Given the description of an element on the screen output the (x, y) to click on. 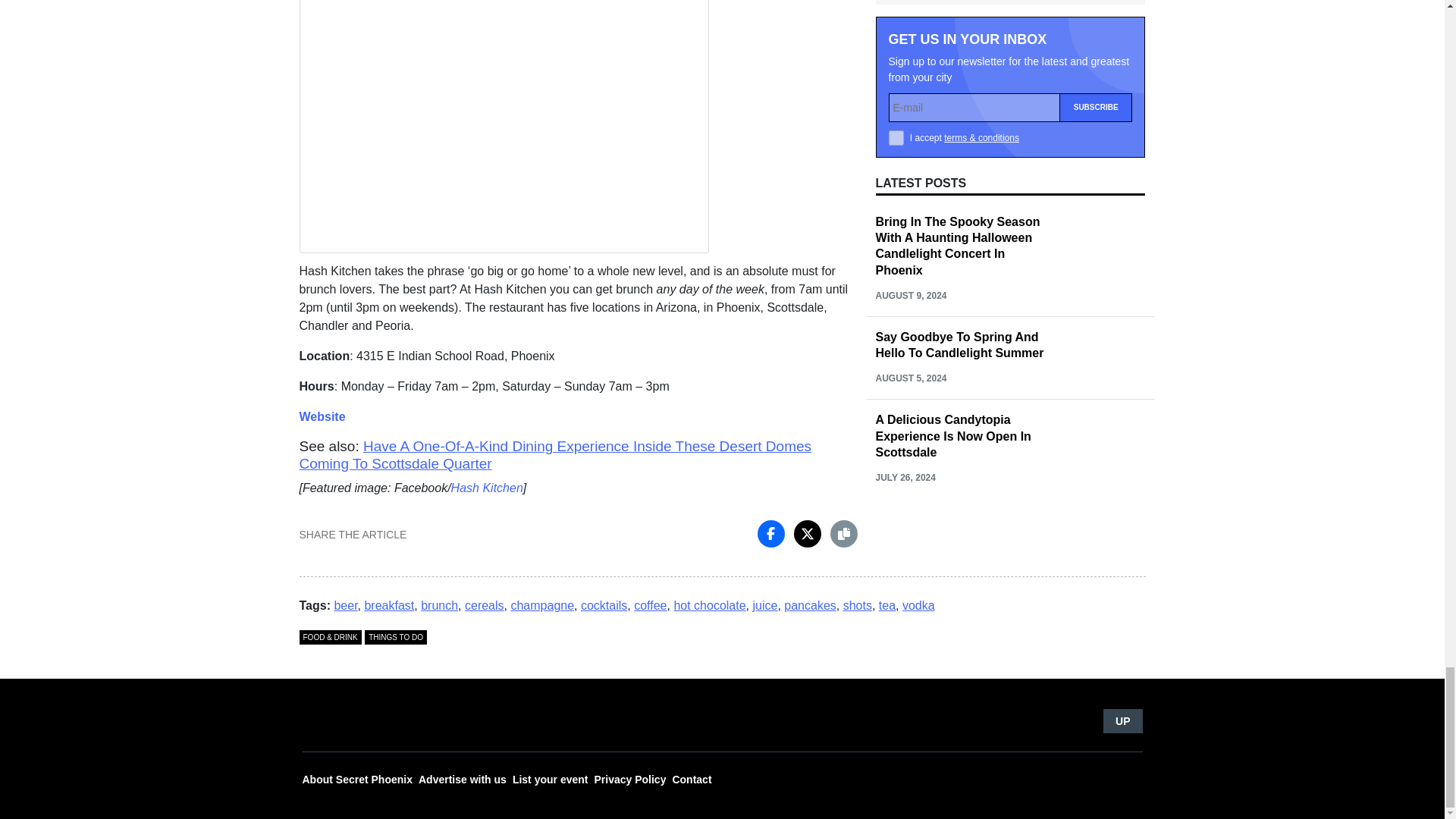
cereals (483, 604)
beer (344, 604)
breakfast (388, 604)
Website (321, 416)
Hash Kitchen (486, 487)
coffee (649, 604)
cocktails (603, 604)
brunch (439, 604)
champagne (542, 604)
